Given the description of an element on the screen output the (x, y) to click on. 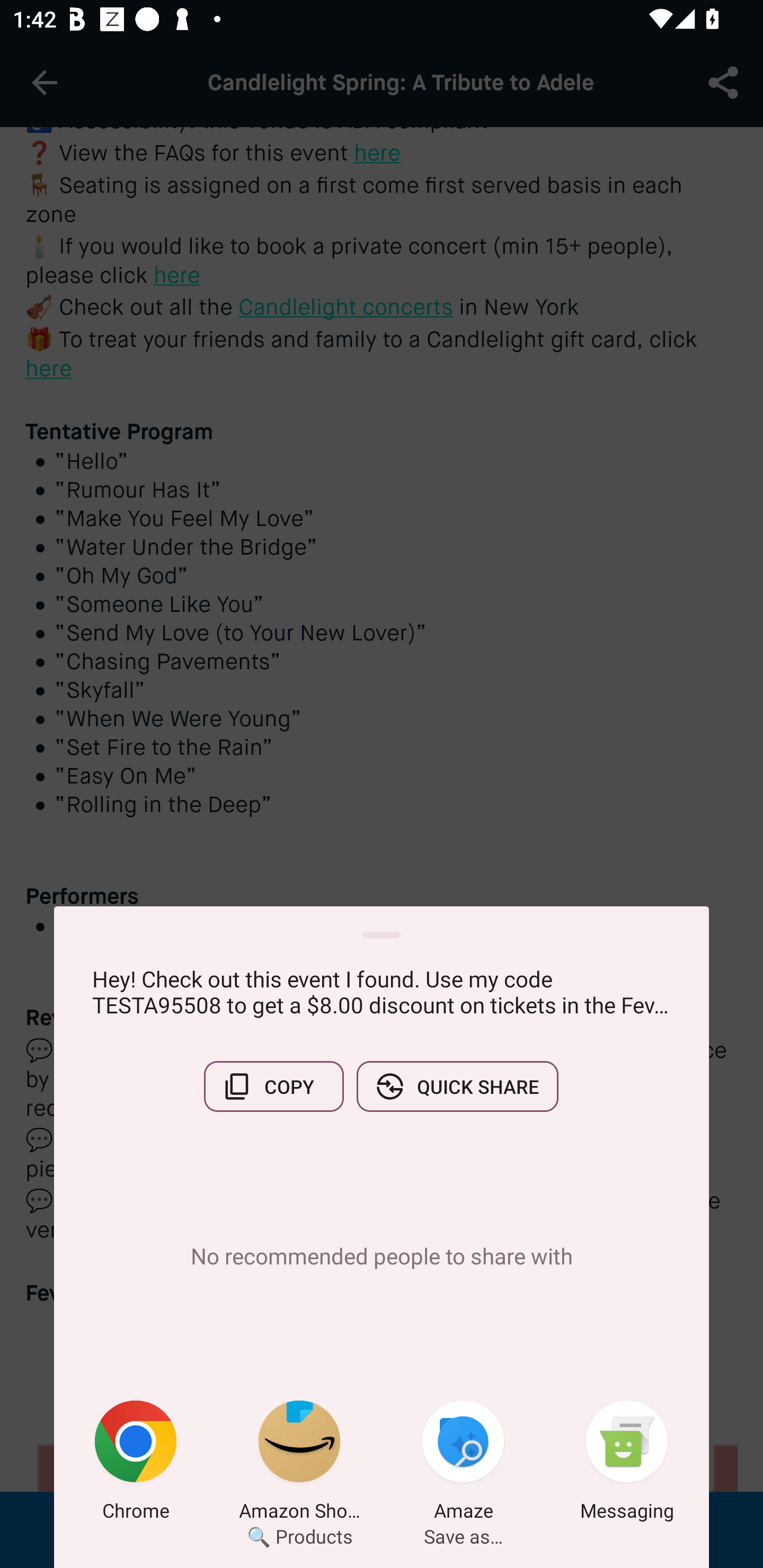
COPY (273, 1086)
QUICK SHARE (457, 1086)
Chrome (135, 1463)
Amazon Shopping 🔍 Products (299, 1463)
Amaze Save as… (463, 1463)
Messaging (626, 1463)
